Given the description of an element on the screen output the (x, y) to click on. 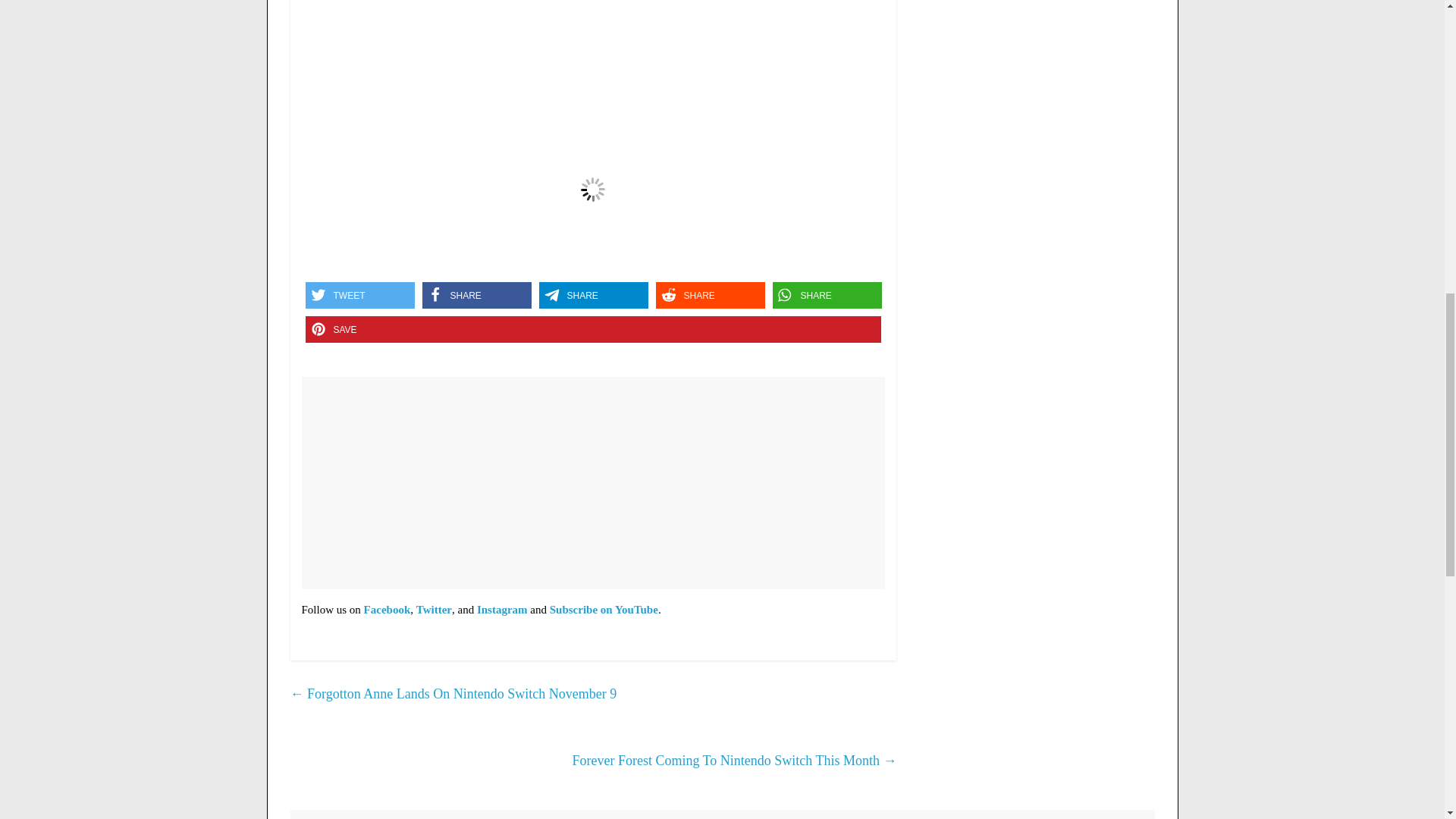
Share on Facebook (476, 294)
Share on Telegram (592, 294)
YouTube player (593, 36)
Share on Reddit (709, 294)
Share on Twitter (358, 294)
Pin it on Pinterest (592, 329)
Share on Whatsapp (825, 294)
